Given the description of an element on the screen output the (x, y) to click on. 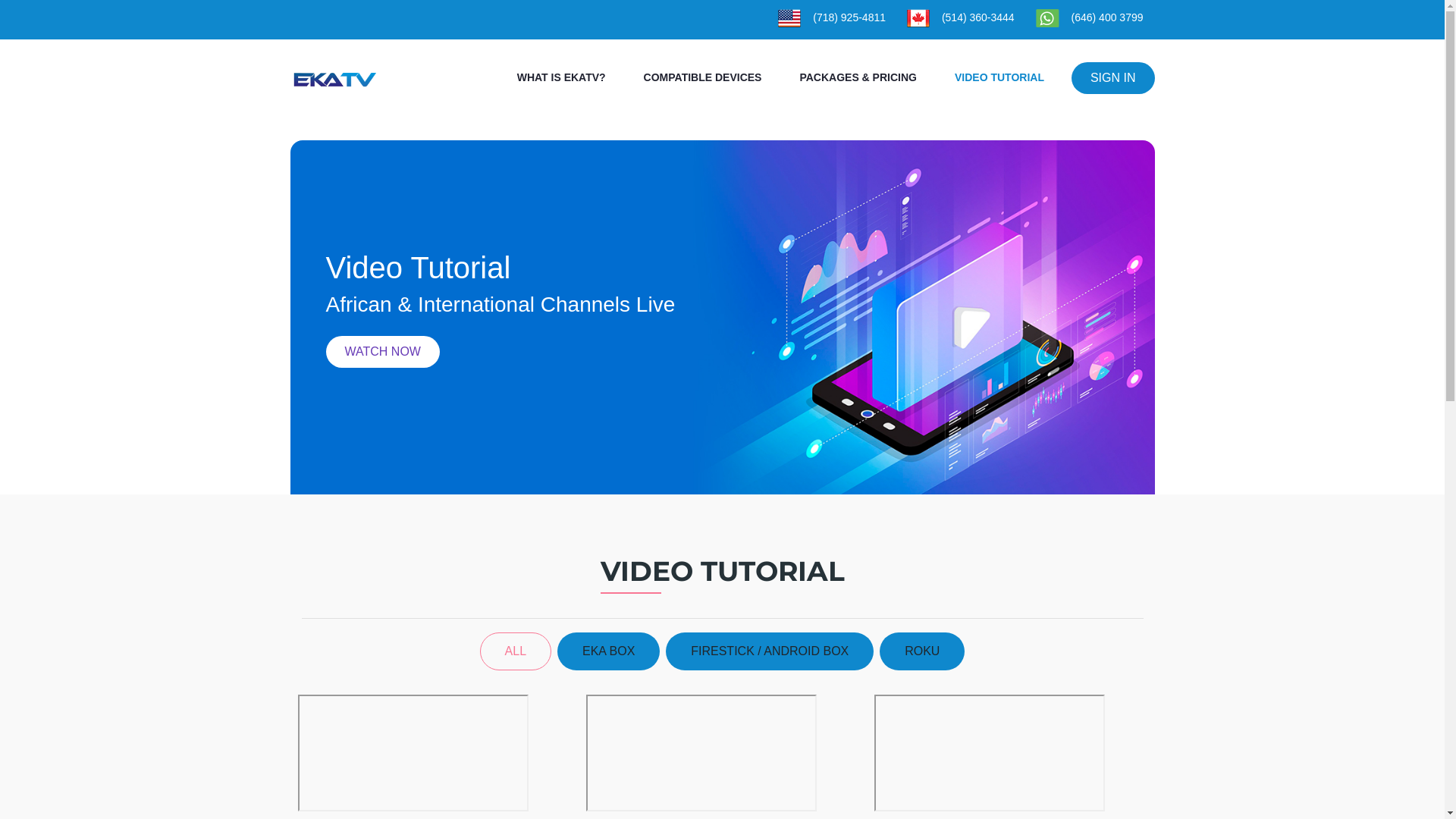
WHAT IS EKATV? Element type: text (561, 77)
ALL Element type: text (515, 651)
SIGN IN Element type: text (1106, 78)
COMPATIBLE DEVICES Element type: text (702, 77)
PACKAGES & PRICING Element type: text (857, 77)
WATCH NOW Element type: text (382, 351)
VIDEO TUTORIAL Element type: text (999, 77)
ROKU Element type: text (921, 651)
EKA BOX Element type: text (608, 651)
FIRESTICK / ANDROID BOX Element type: text (769, 651)
SIGN IN Element type: text (1112, 78)
